Given the description of an element on the screen output the (x, y) to click on. 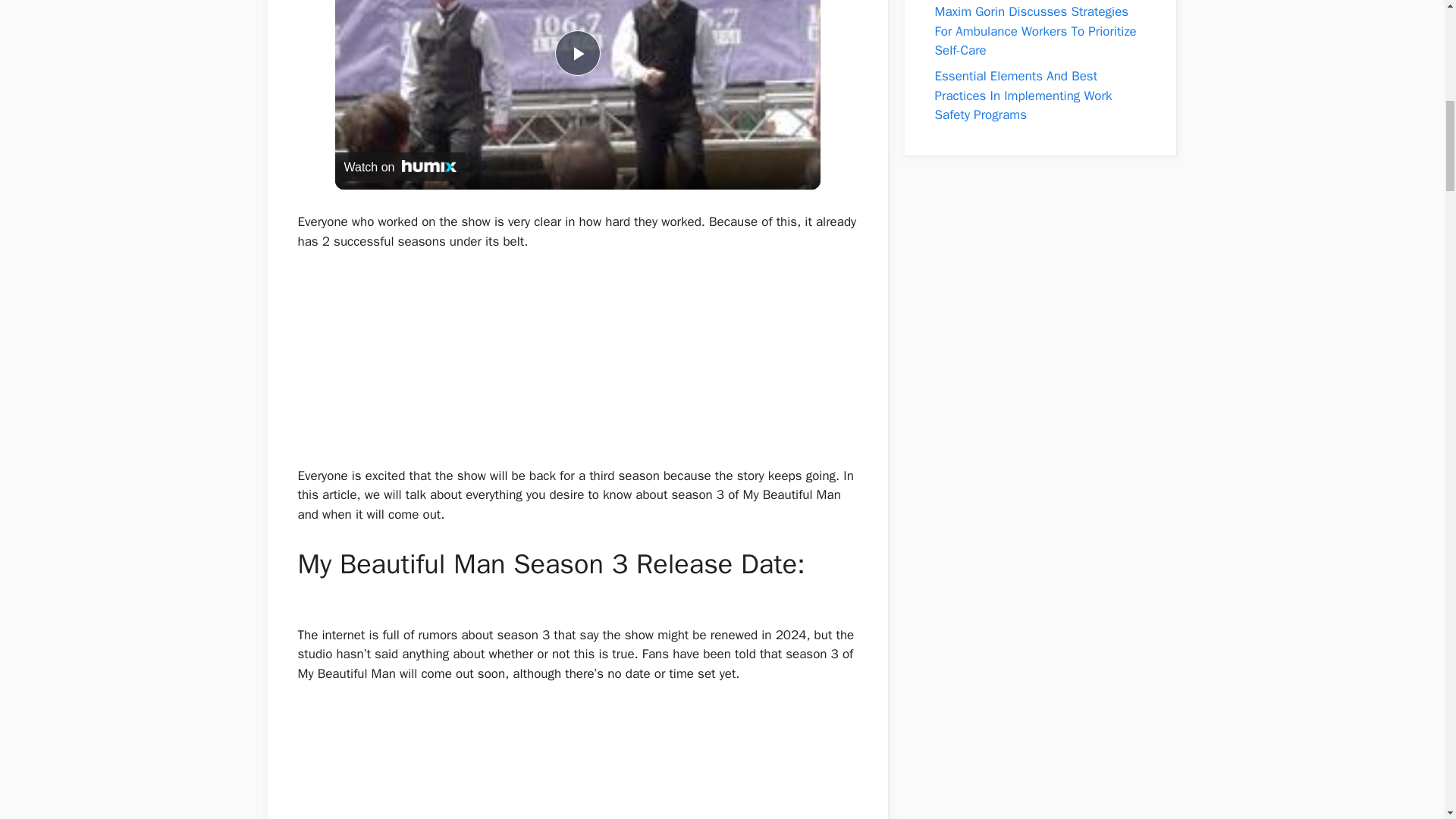
Play Video (576, 53)
Watch on (399, 166)
Play Video (576, 53)
